Given the description of an element on the screen output the (x, y) to click on. 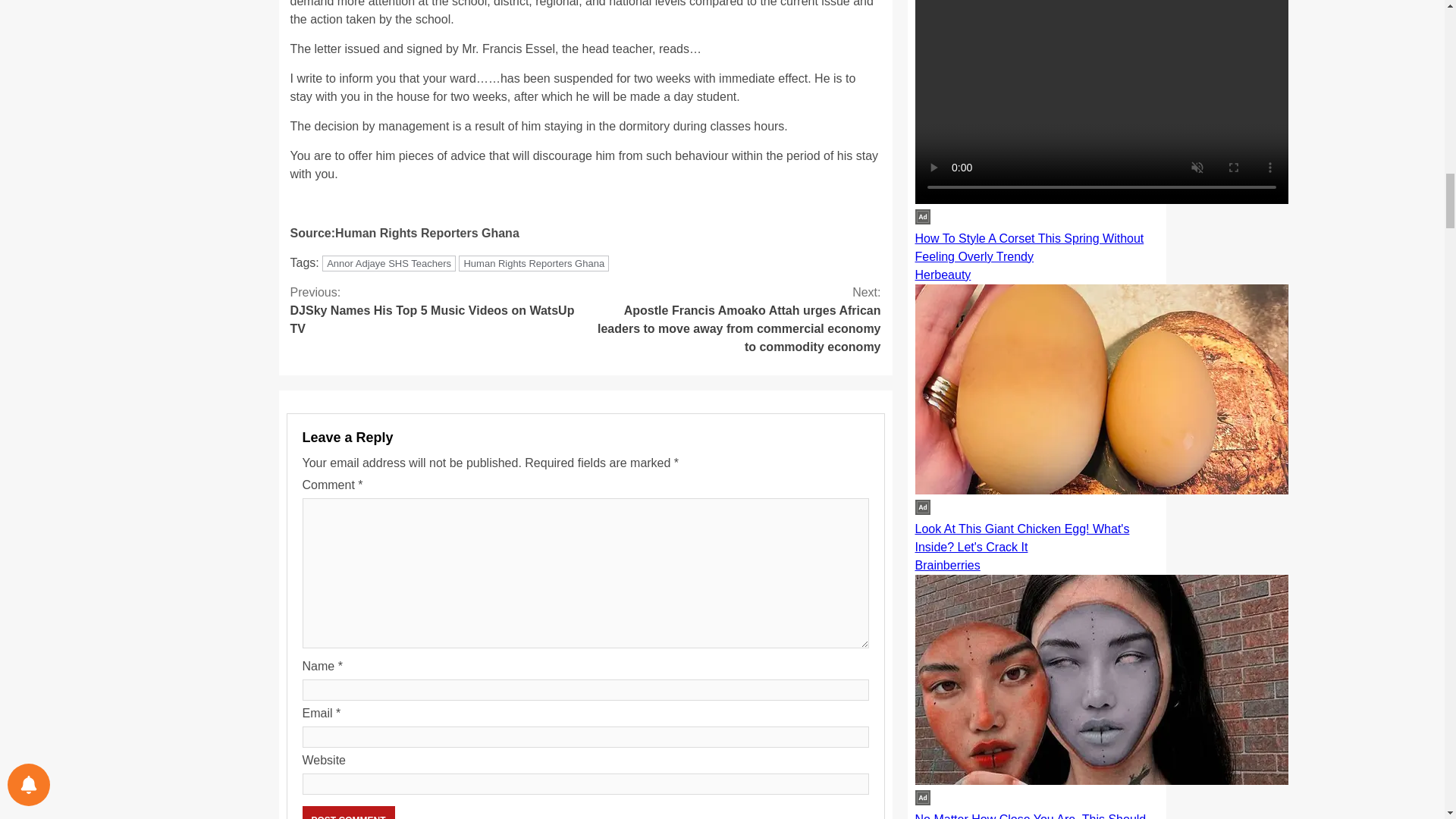
Post Comment (347, 812)
Annor Adjaye SHS Teachers (388, 263)
Post Comment (437, 310)
Human Rights Reporters Ghana (347, 812)
